Given the description of an element on the screen output the (x, y) to click on. 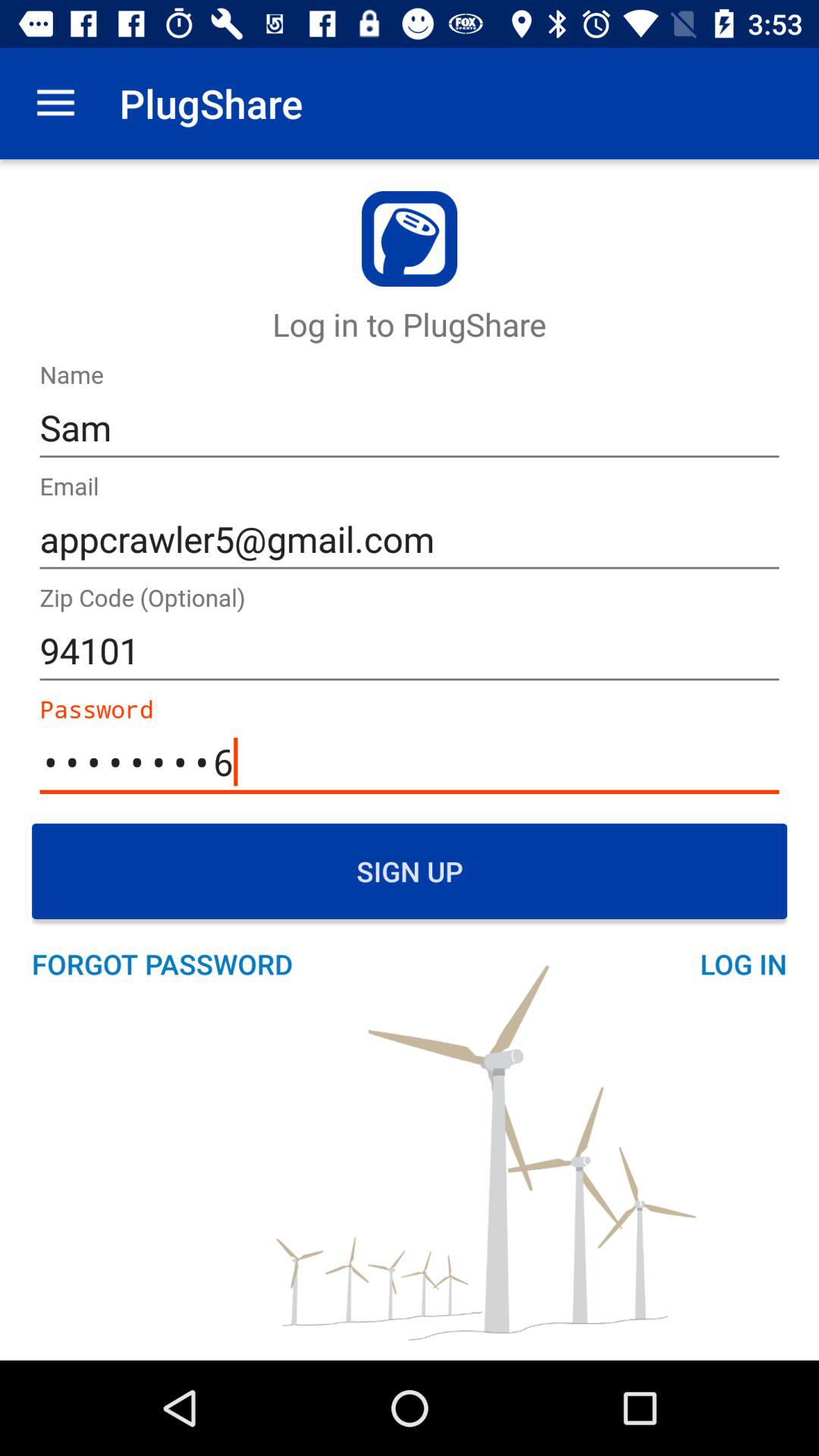
tap icon to the left of the log in (169, 963)
